Given the description of an element on the screen output the (x, y) to click on. 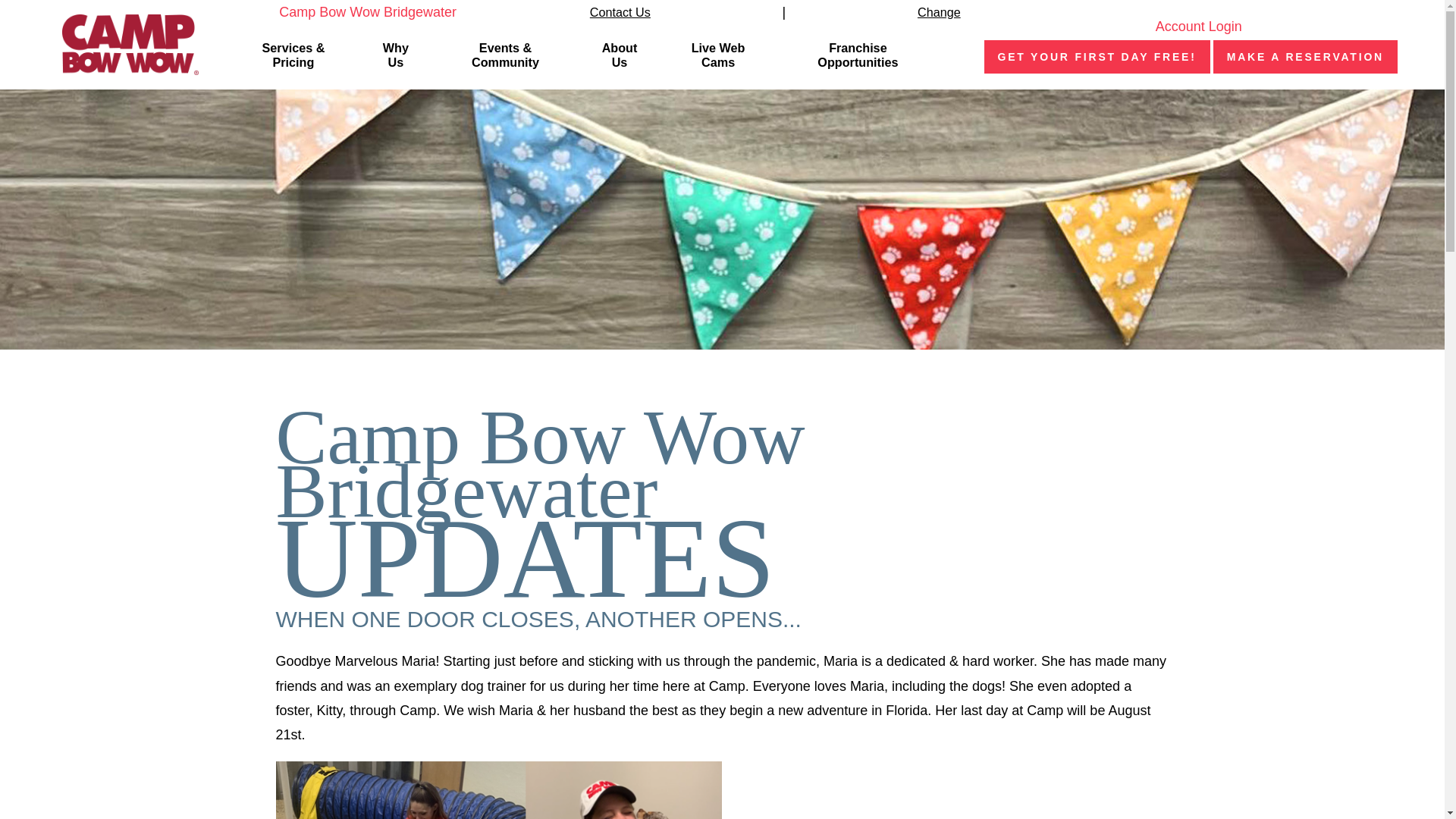
Account Login (1190, 26)
Camp Bow Wow (130, 44)
Franchise Opportunities (857, 56)
Live Web Cams (717, 56)
Change (938, 12)
Search Our Site (949, 56)
Camp Bow Wow Bridgewater (357, 12)
Contact Us (619, 12)
Search Icon (949, 57)
